Given the description of an element on the screen output the (x, y) to click on. 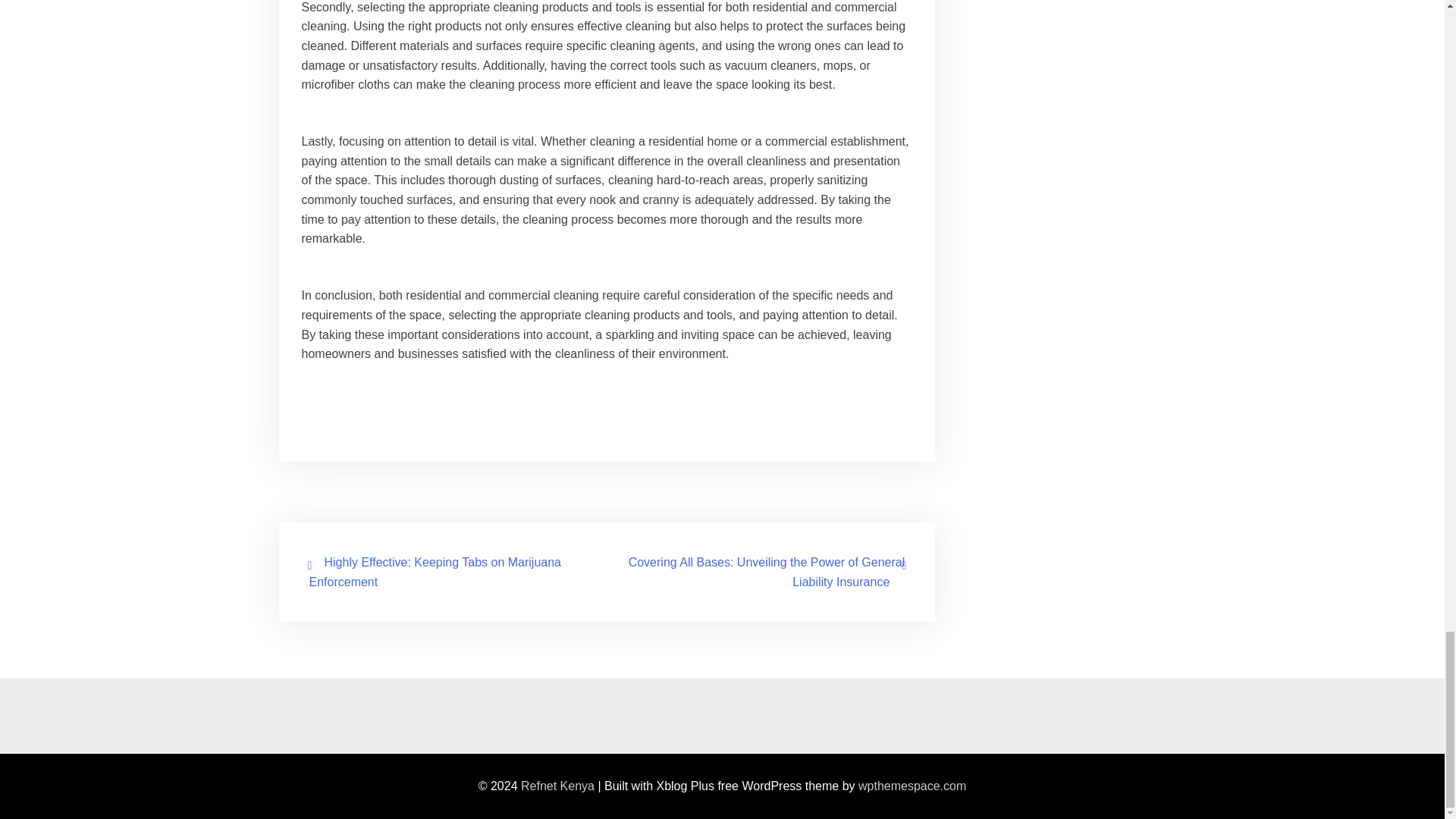
Refnet Kenya (557, 786)
wpthemespace.com (912, 786)
Highly Effective: Keeping Tabs on Marijuana Enforcement (434, 572)
